Given the description of an element on the screen output the (x, y) to click on. 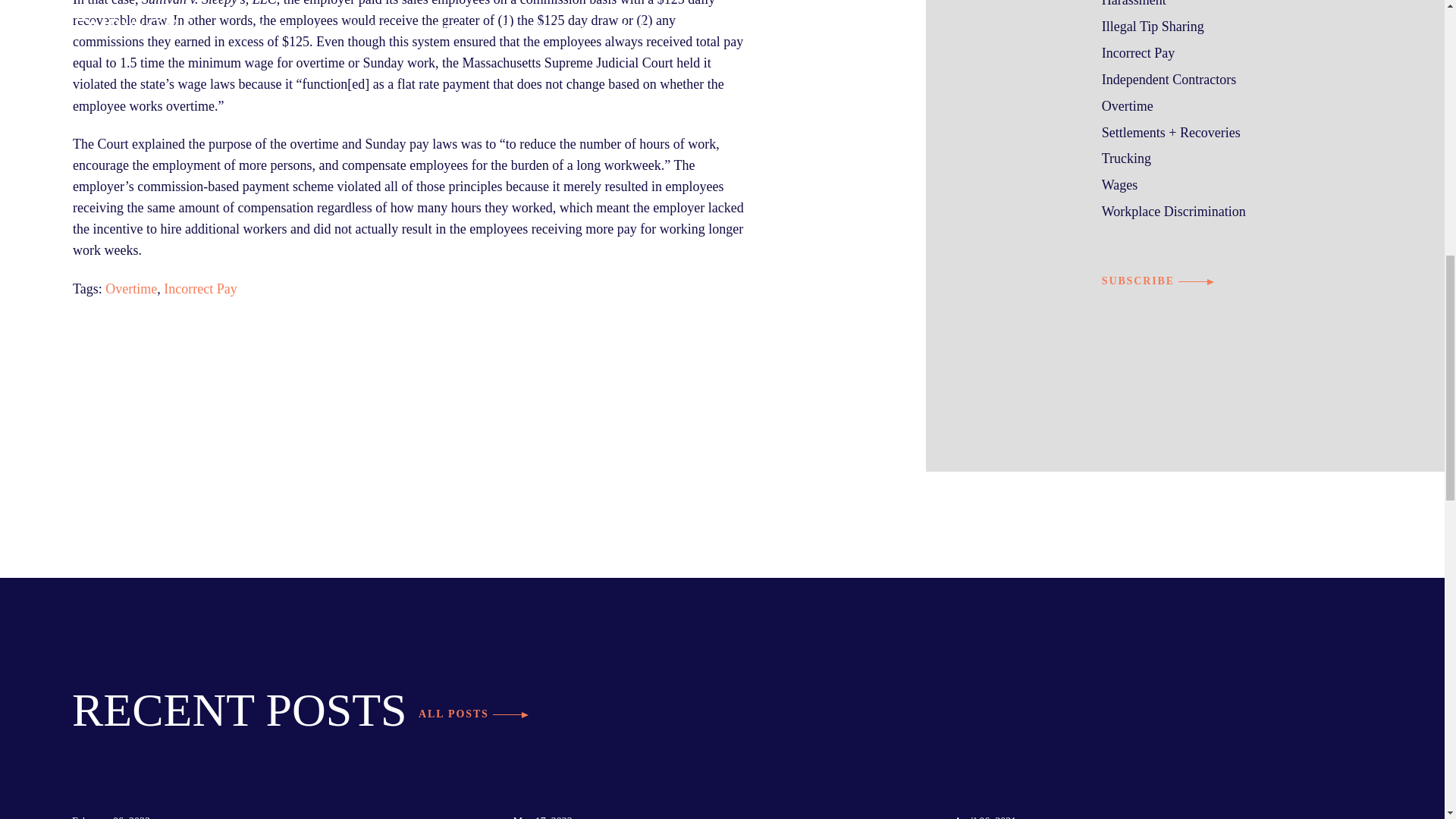
Overtime (130, 288)
Incorrect Pay (199, 288)
